Given the description of an element on the screen output the (x, y) to click on. 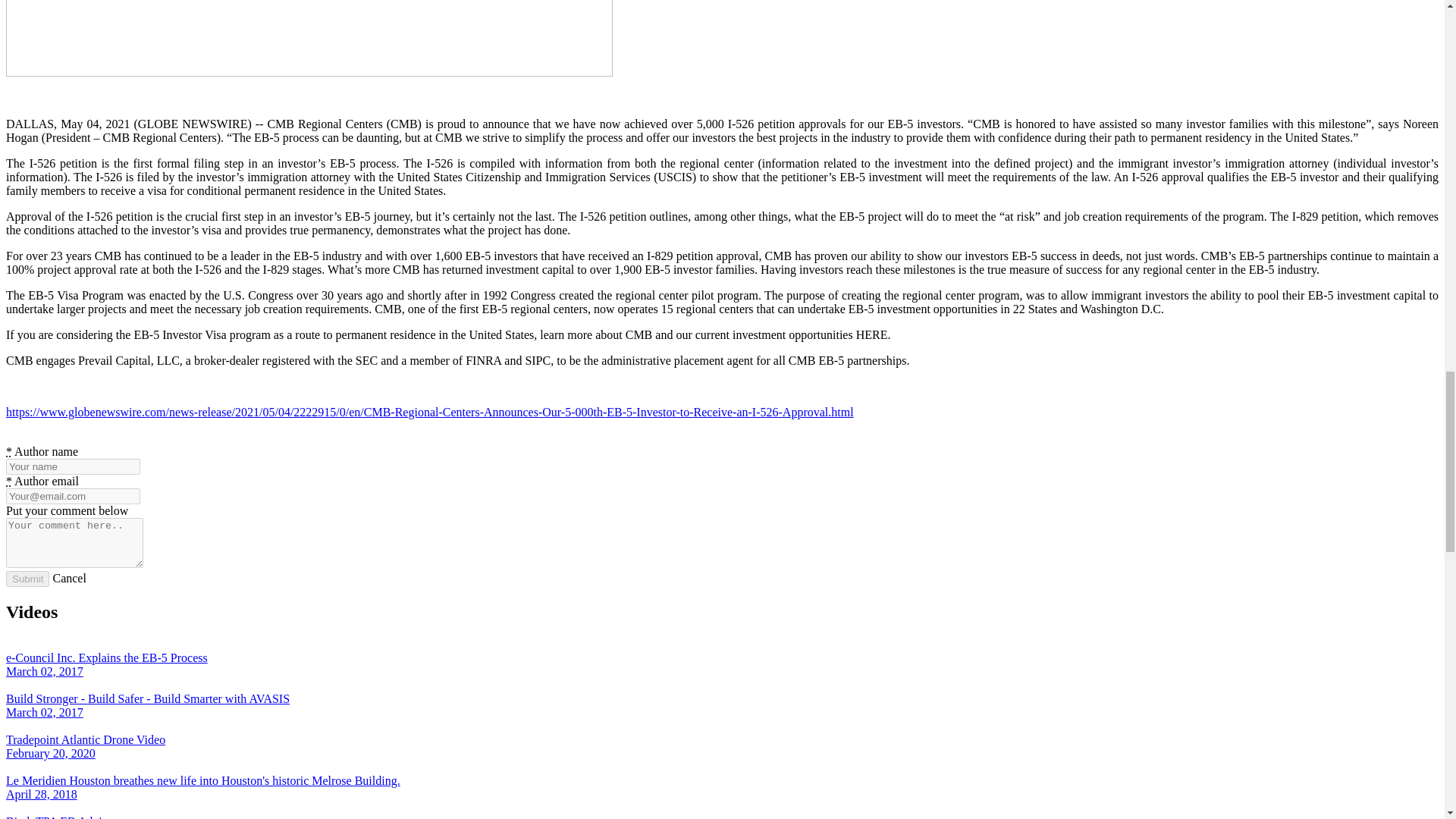
required (8, 481)
Submit (27, 578)
required (8, 451)
